Given the description of an element on the screen output the (x, y) to click on. 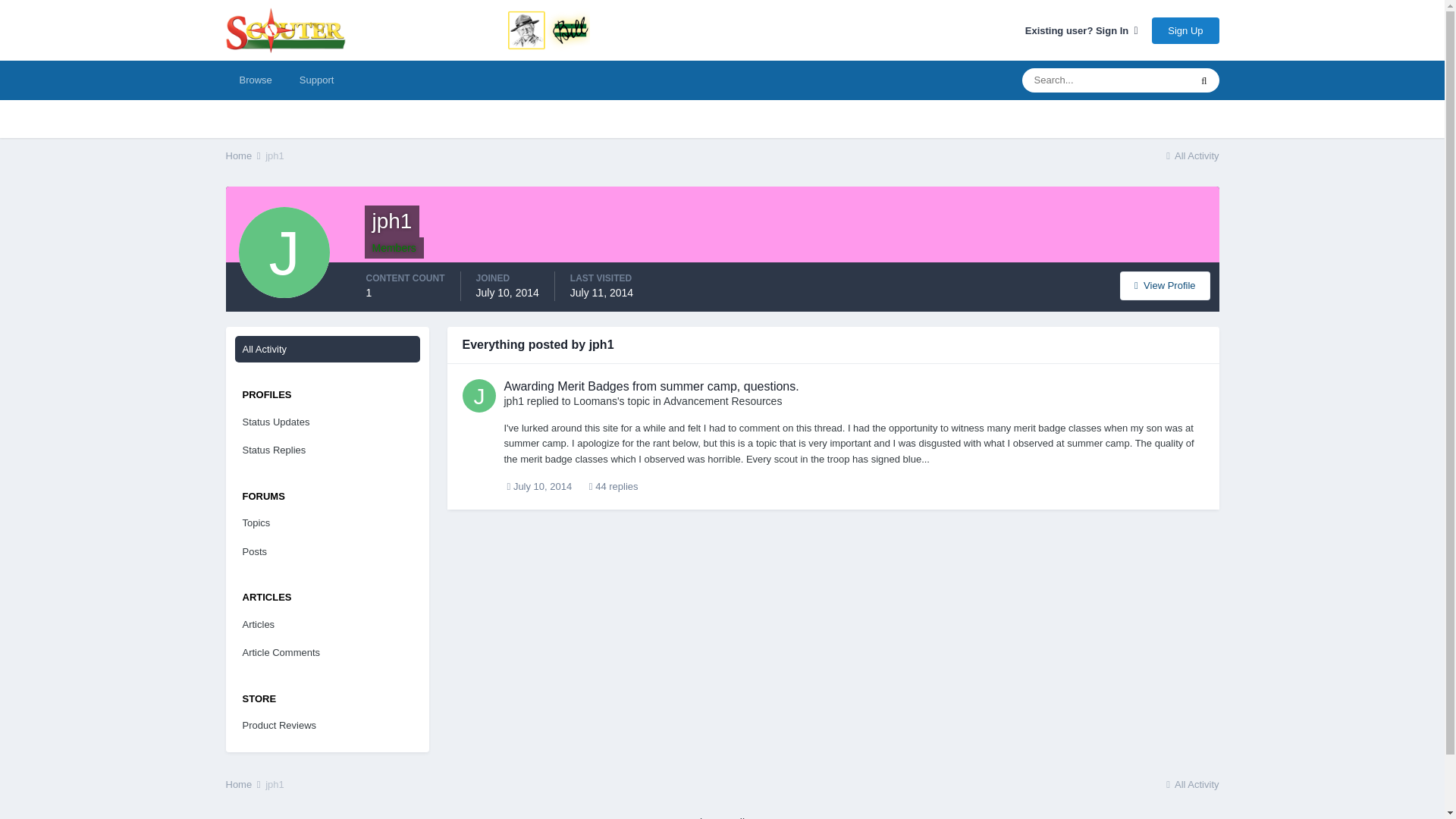
Article Comments (327, 652)
Go to Loomans's profile (595, 400)
Product Reviews (327, 725)
All Activity (1190, 155)
Status Replies (327, 450)
jph1 (273, 155)
Browse (255, 79)
Awarding Merit Badges from summer camp, questions. (650, 385)
Go to jph1's profile (512, 400)
Topics (327, 523)
